Given the description of an element on the screen output the (x, y) to click on. 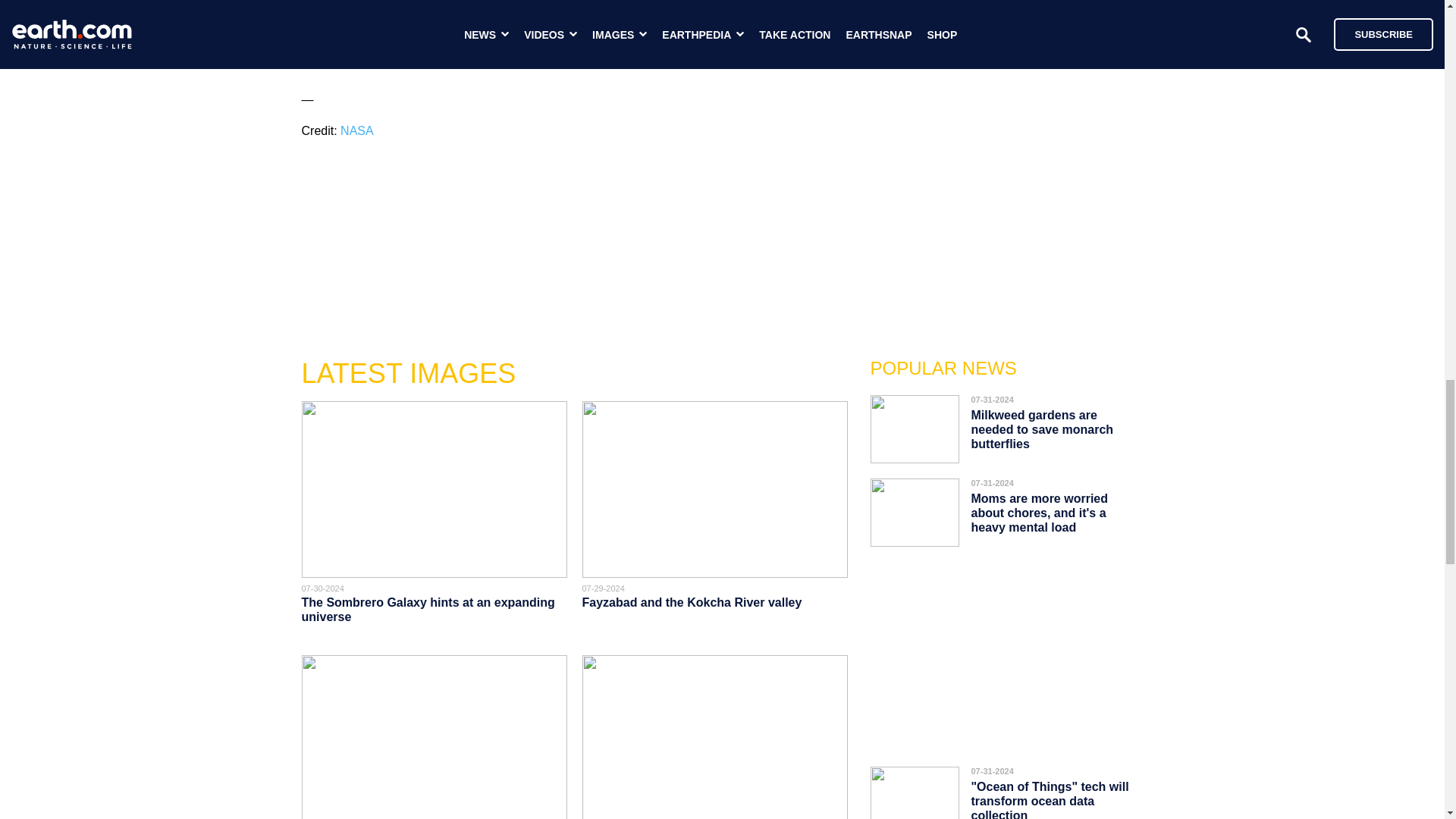
NASA (357, 130)
The Sombrero Galaxy hints at an expanding universe  (427, 609)
Milkweed gardens are needed to save monarch butterflies (1042, 429)
Fayzabad and the Kokcha River valley  (693, 602)
